Given the description of an element on the screen output the (x, y) to click on. 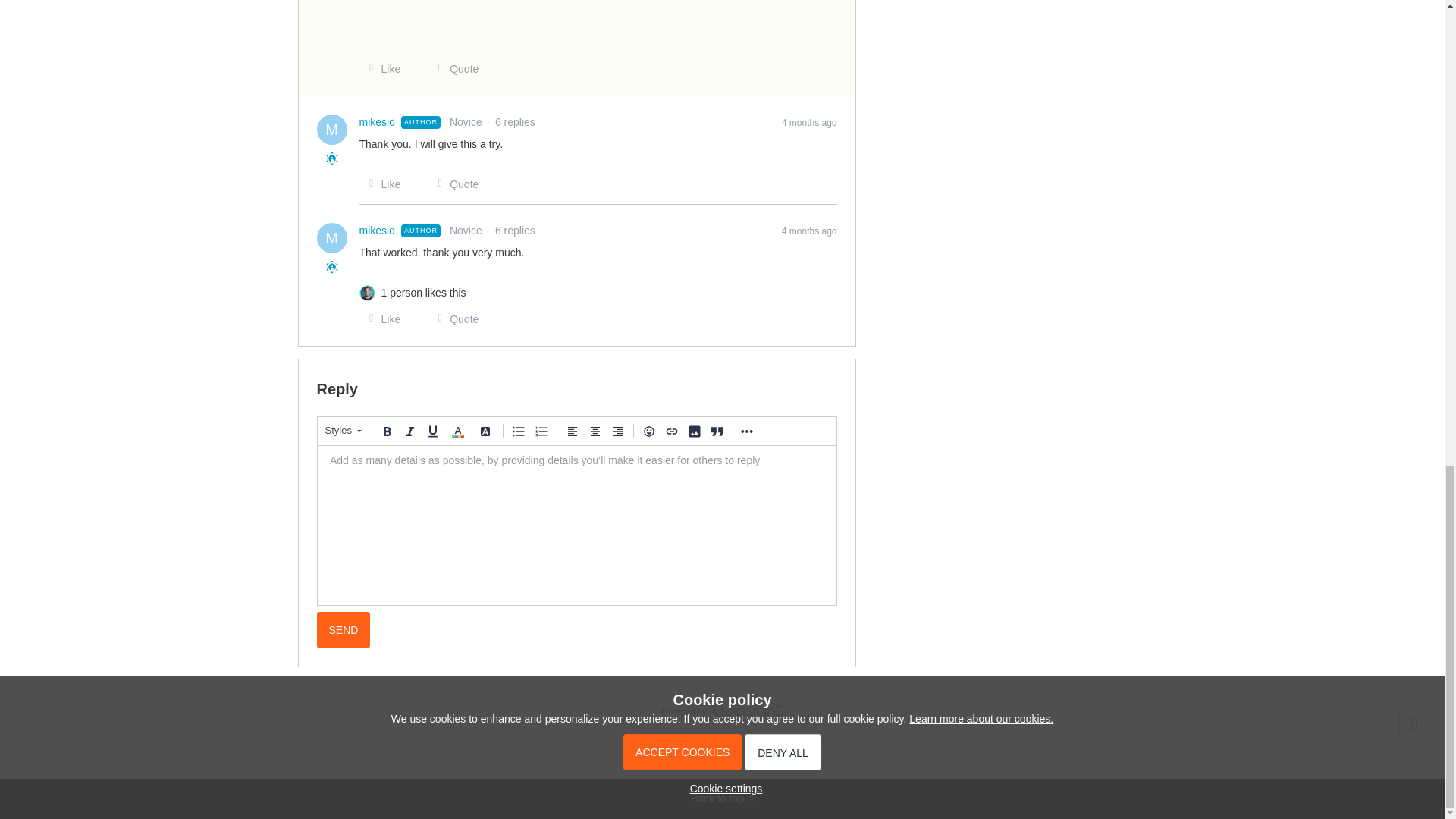
Back to top (722, 798)
